Given the description of an element on the screen output the (x, y) to click on. 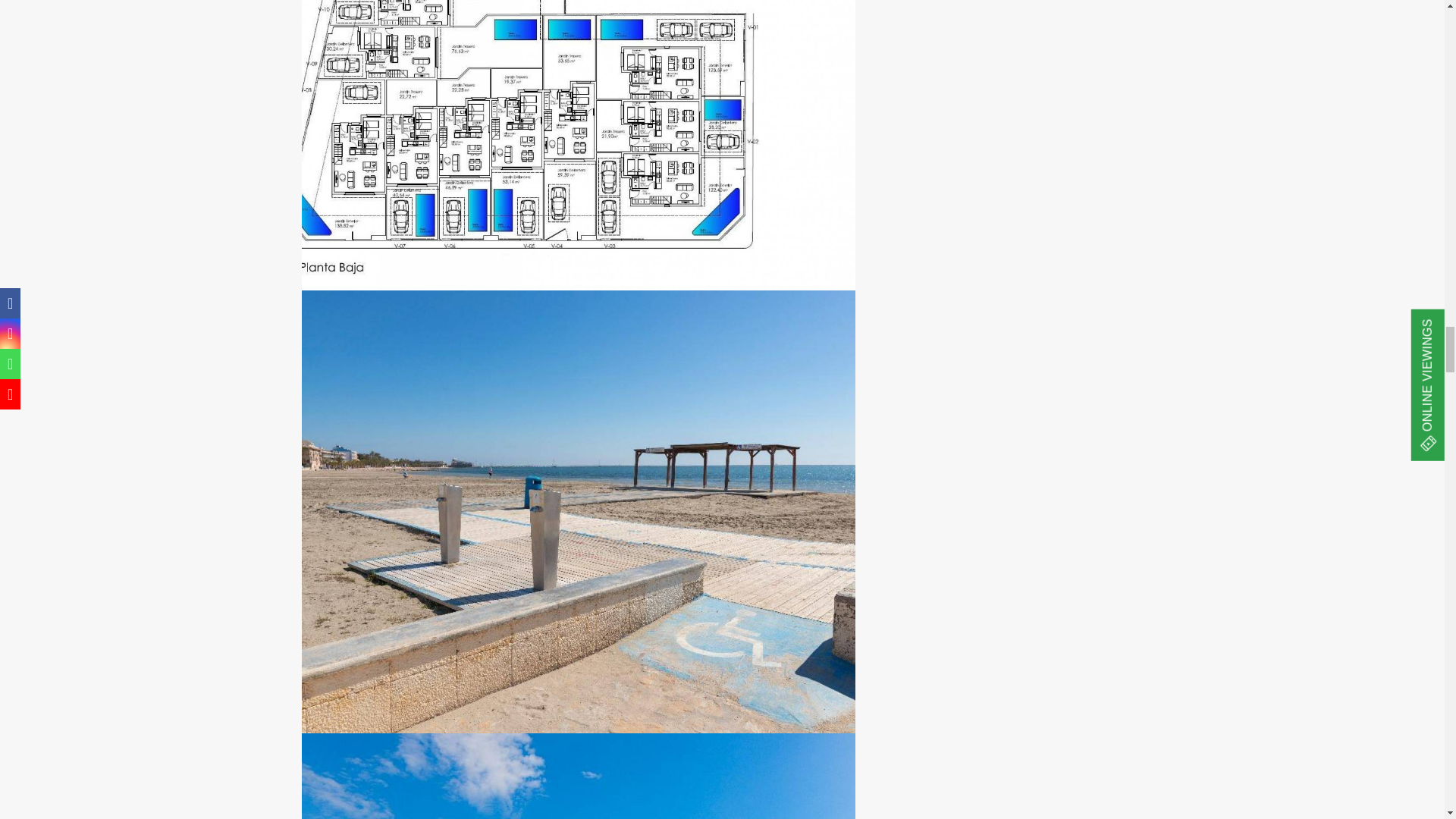
New Build - Villa - San Javier - Santiago de la Ribera (578, 776)
